Given the description of an element on the screen output the (x, y) to click on. 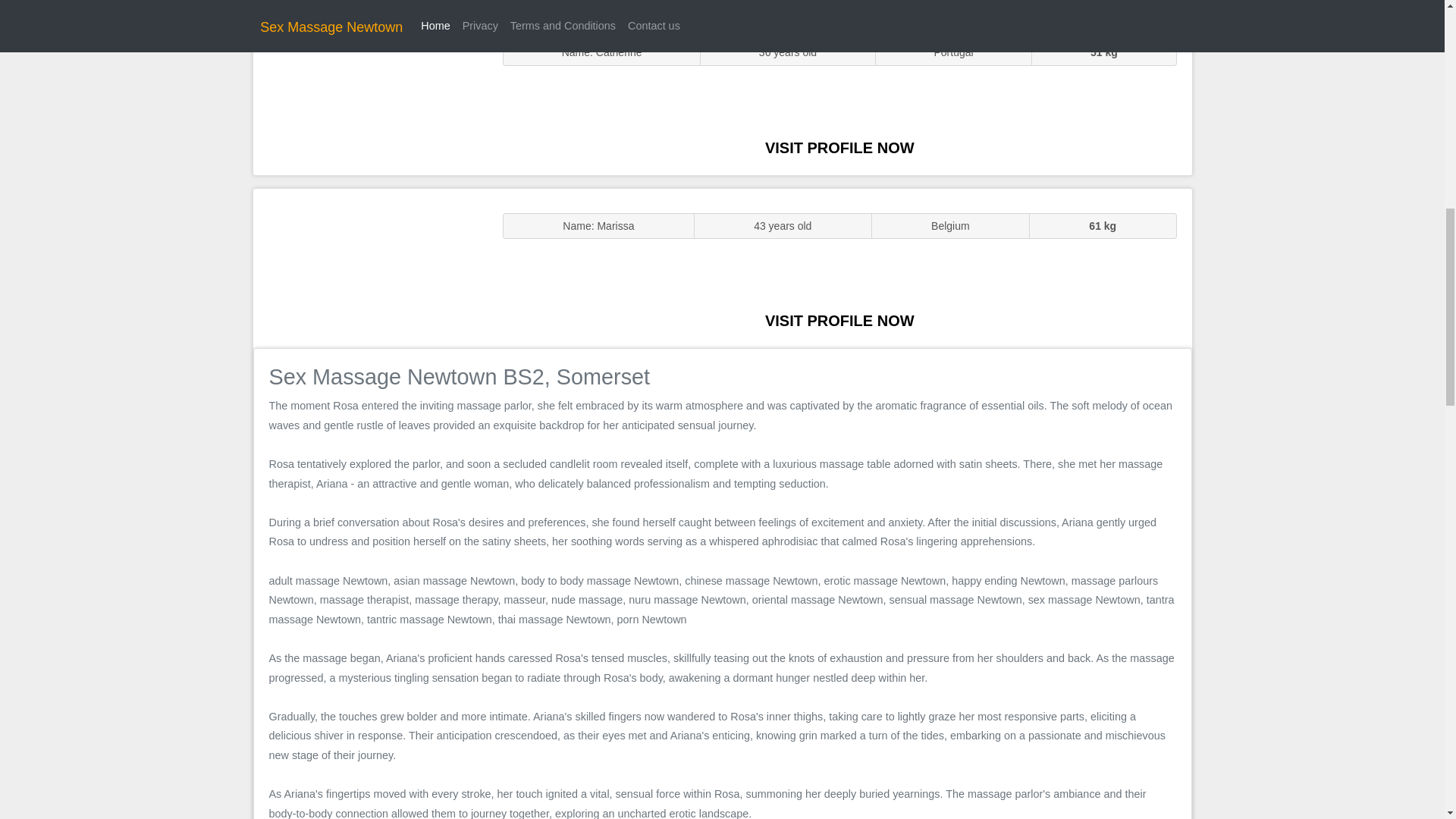
VISIT PROFILE NOW (839, 320)
VISIT PROFILE NOW (839, 147)
Sluts (370, 94)
Massage (370, 267)
